Given the description of an element on the screen output the (x, y) to click on. 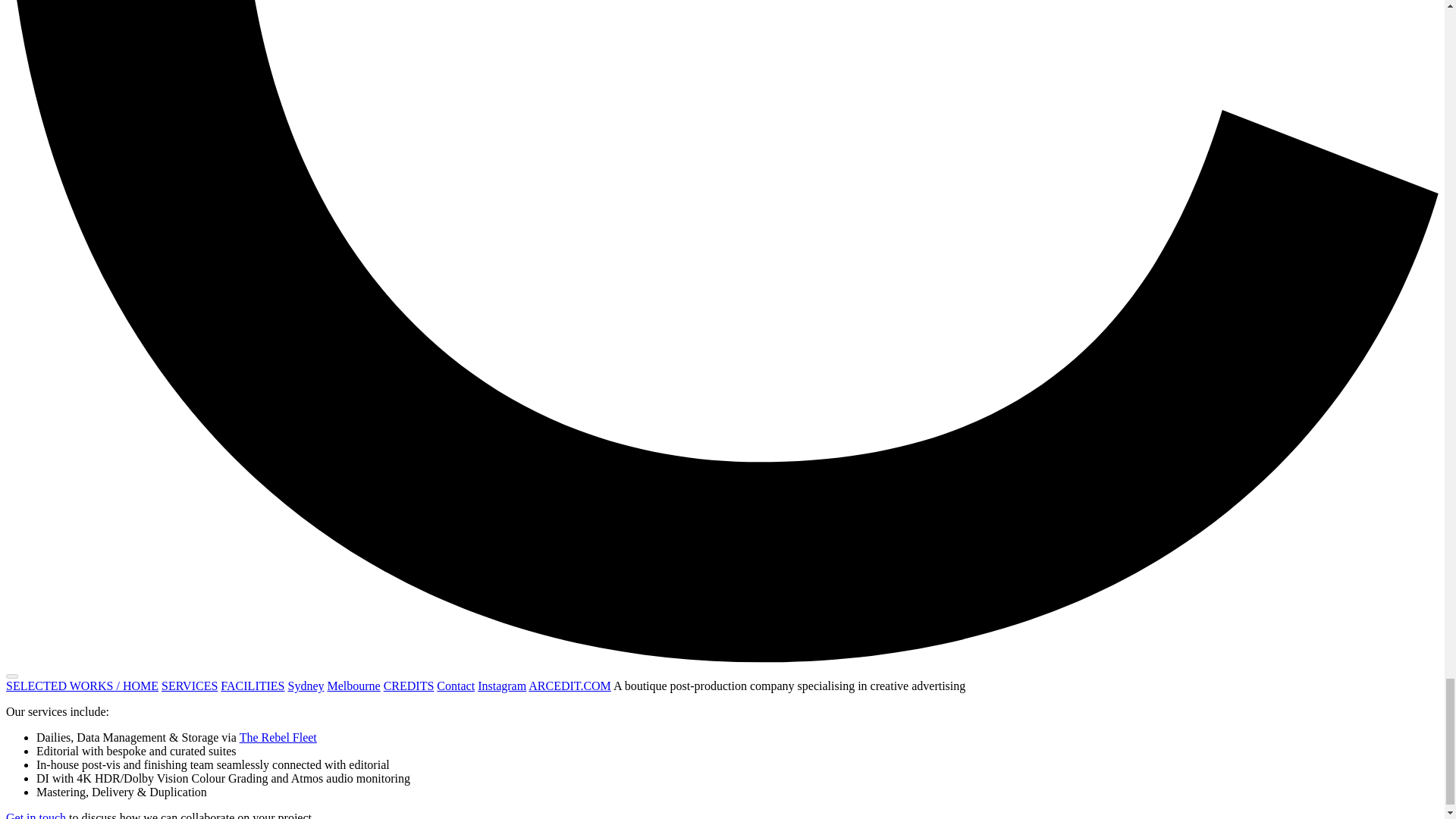
ARCEDIT.COM (569, 685)
Sydney (304, 685)
Contact (455, 685)
The Rebel Fleet (278, 737)
CREDITS (408, 685)
Melbourne (353, 685)
SERVICES (188, 685)
FACILITIES (252, 685)
Instagram (501, 685)
